Given the description of an element on the screen output the (x, y) to click on. 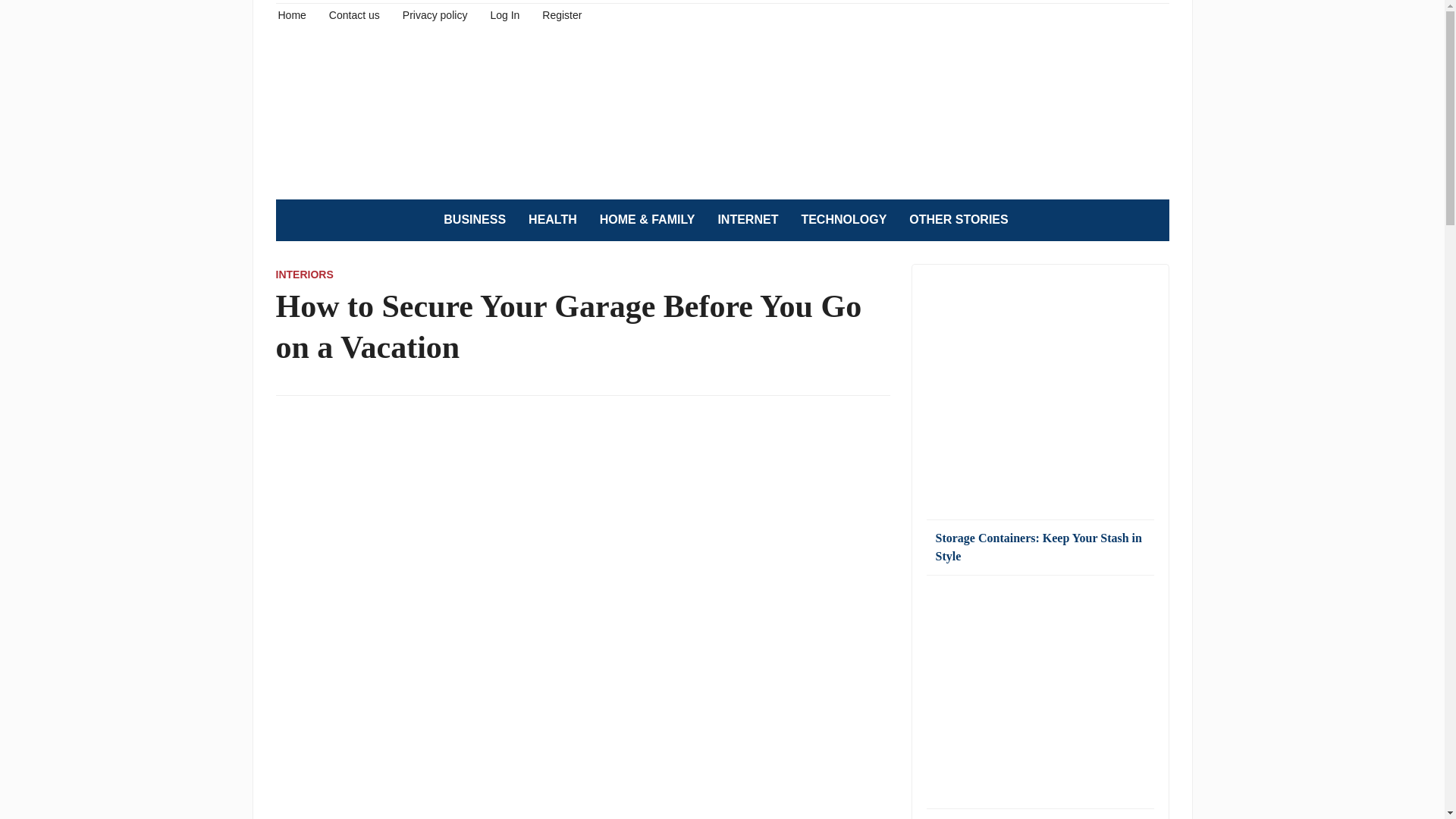
Privacy policy (435, 14)
Contact us (354, 14)
Register (560, 14)
Home (291, 14)
Log In (504, 14)
Search (1149, 219)
